Given the description of an element on the screen output the (x, y) to click on. 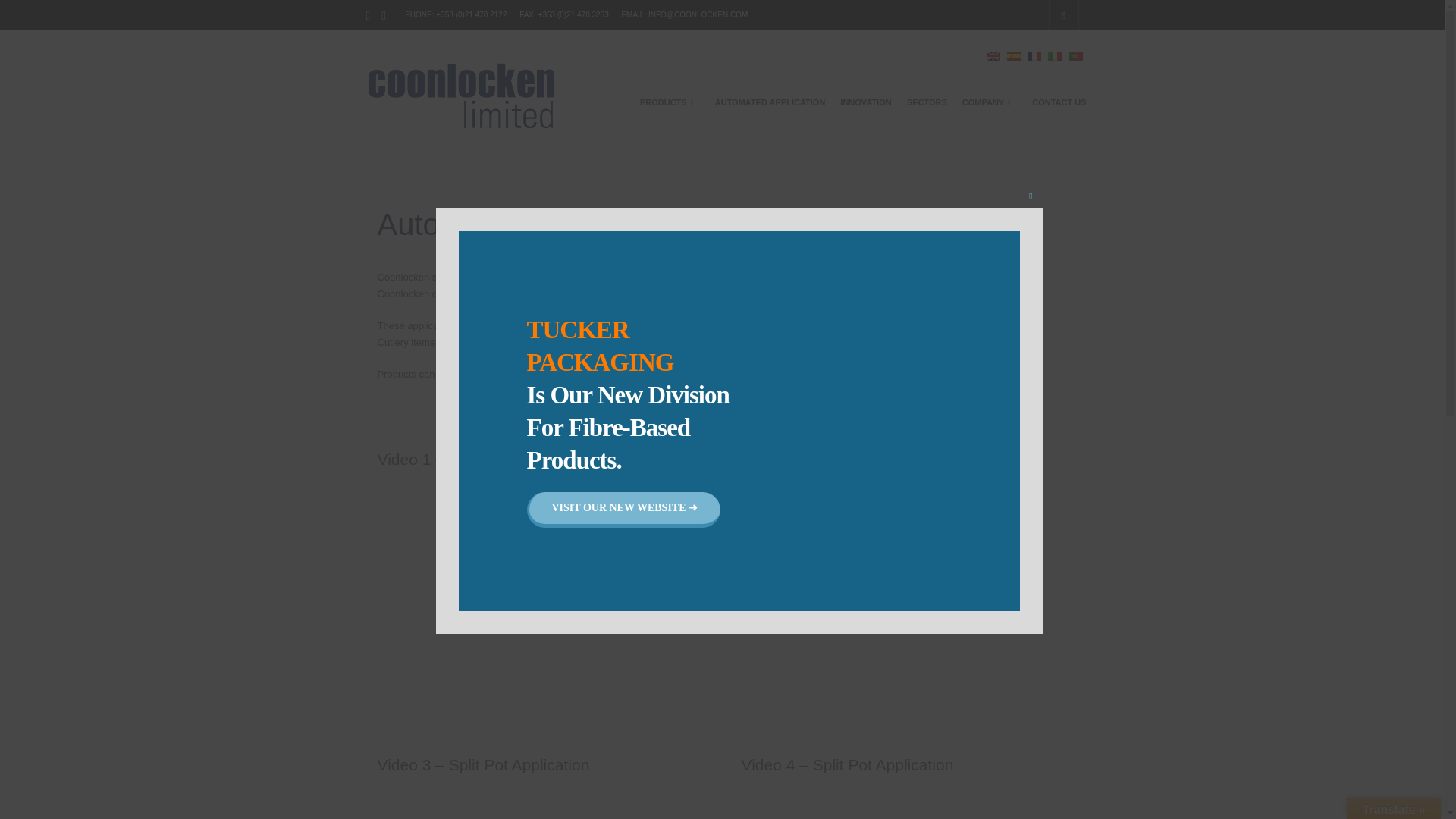
here (636, 342)
COMPANY (984, 101)
Italian (1054, 55)
contact us (879, 374)
PRODUCTS (664, 101)
Top Application (912, 607)
Automated Application (548, 607)
CONTACT US (1059, 101)
AUTOMATED APPLICATION (769, 101)
Portuguese (1075, 55)
SECTORS (927, 101)
Italian (1053, 54)
INNOVATION (865, 101)
